Given the description of an element on the screen output the (x, y) to click on. 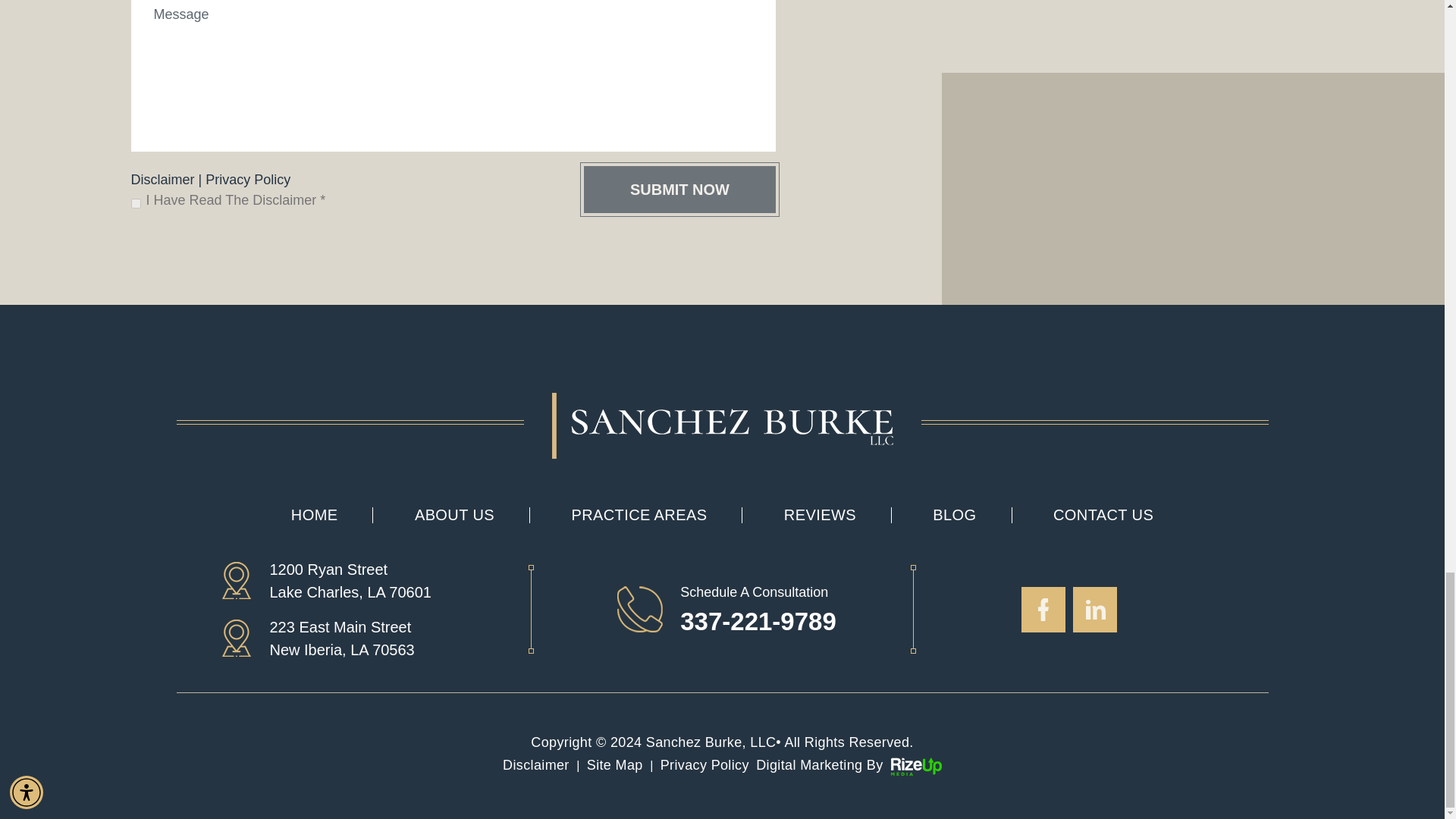
Submit Now (679, 189)
